Given the description of an element on the screen output the (x, y) to click on. 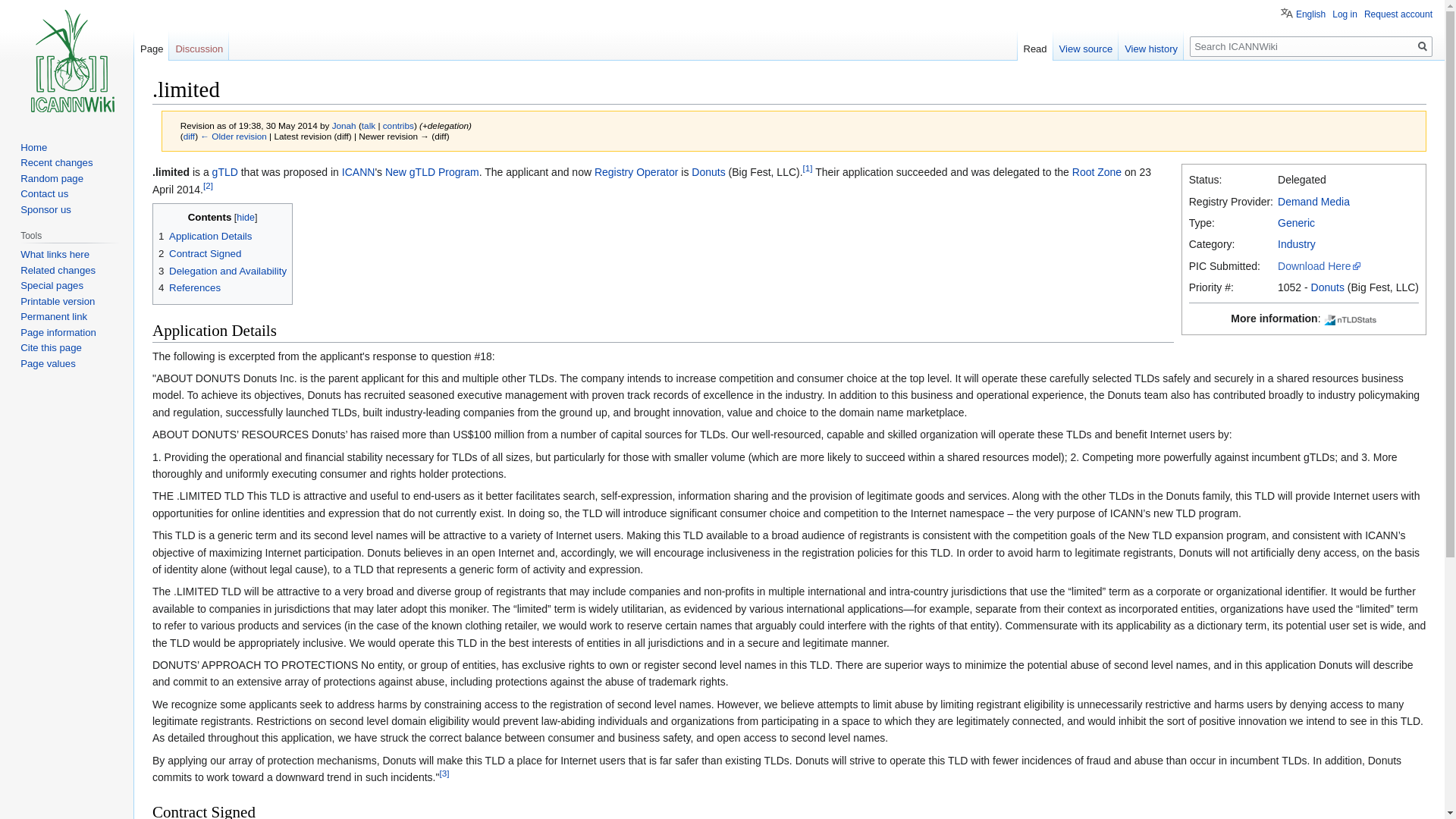
Download Here (1319, 265)
.limited (233, 135)
gTLD (225, 172)
Root Zone (1096, 172)
Donuts (1327, 287)
Go (1422, 46)
Registry Operator (636, 172)
3 Delegation and Availability (222, 270)
Demand Media (1313, 201)
Category:Industry New gTLDs (1297, 244)
